Given the description of an element on the screen output the (x, y) to click on. 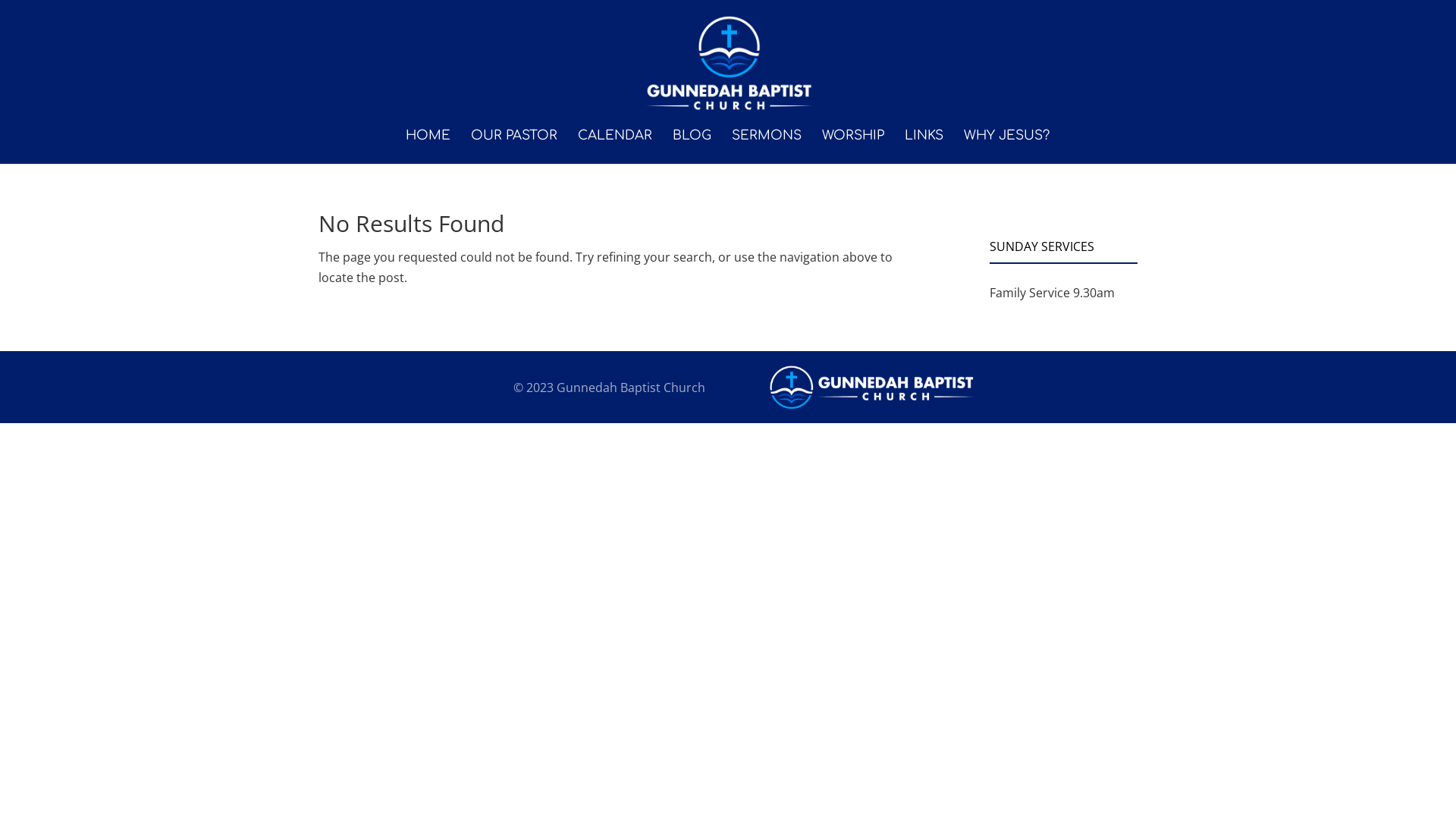
OUR PASTOR Element type: text (513, 146)
BLOG Element type: text (690, 146)
WORSHIP Element type: text (853, 146)
LINKS Element type: text (922, 146)
CALENDAR Element type: text (614, 146)
gunnedah church Element type: hover (871, 386)
SERMONS Element type: text (765, 146)
WHY JESUS? Element type: text (1005, 146)
HOME Element type: text (426, 146)
